Given the description of an element on the screen output the (x, y) to click on. 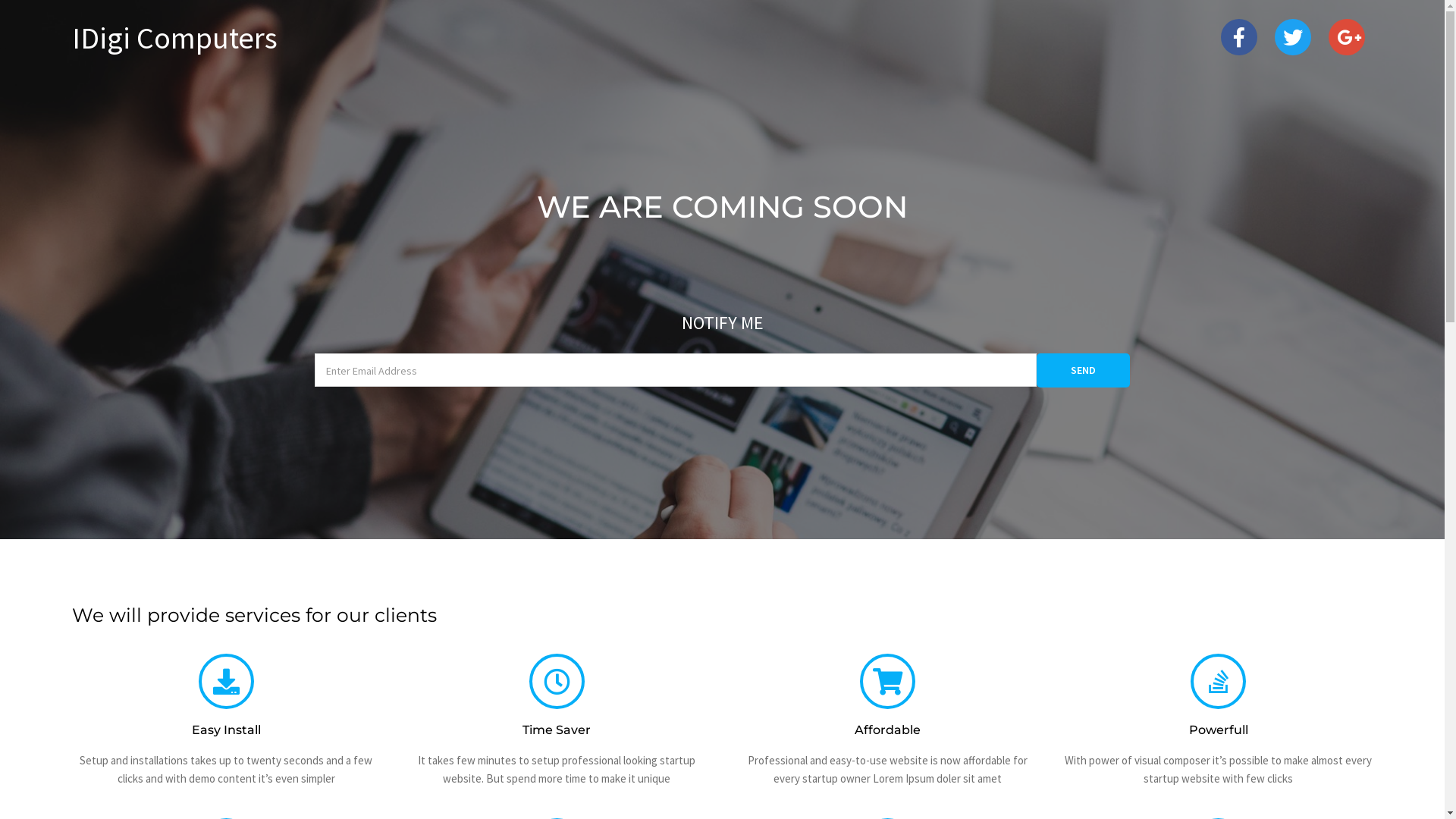
IDigi Computers Element type: text (281, 37)
SEND Element type: text (1082, 370)
